Given the description of an element on the screen output the (x, y) to click on. 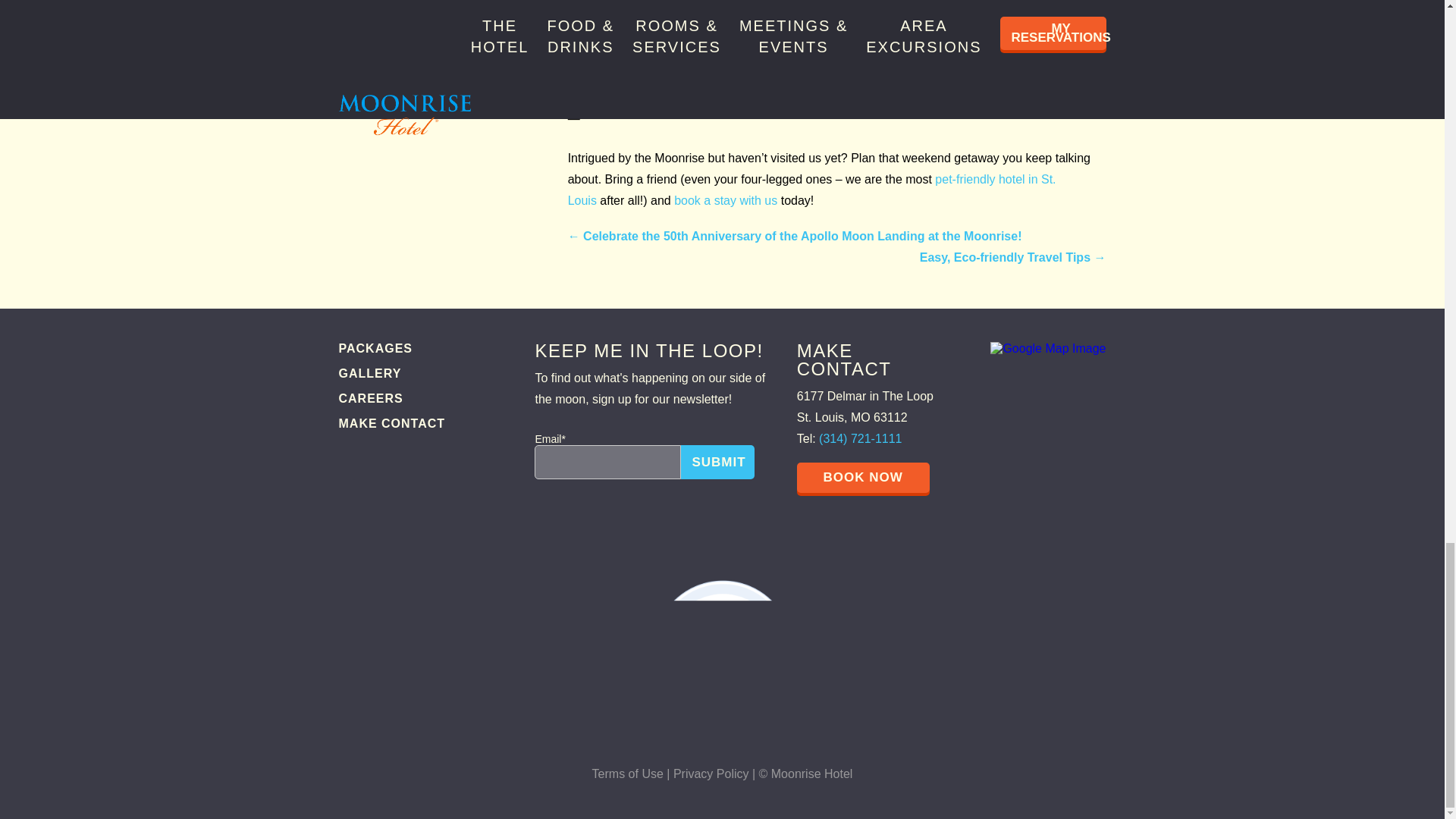
Submit (717, 462)
